Given the description of an element on the screen output the (x, y) to click on. 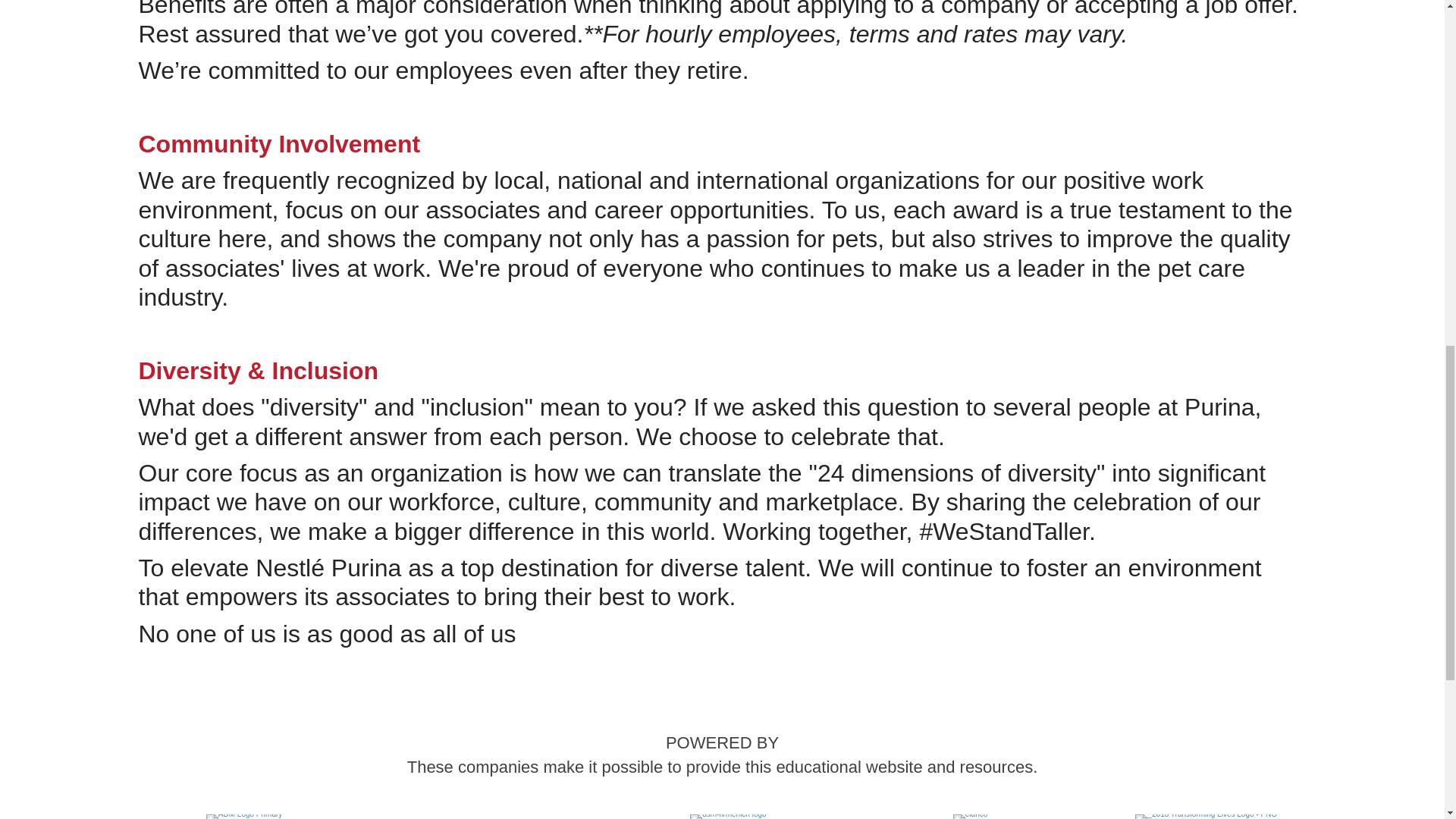
elanco (970, 816)
ADM Logo Primary (244, 816)
dsm-firmenich Logo (727, 816)
